Given the description of an element on the screen output the (x, y) to click on. 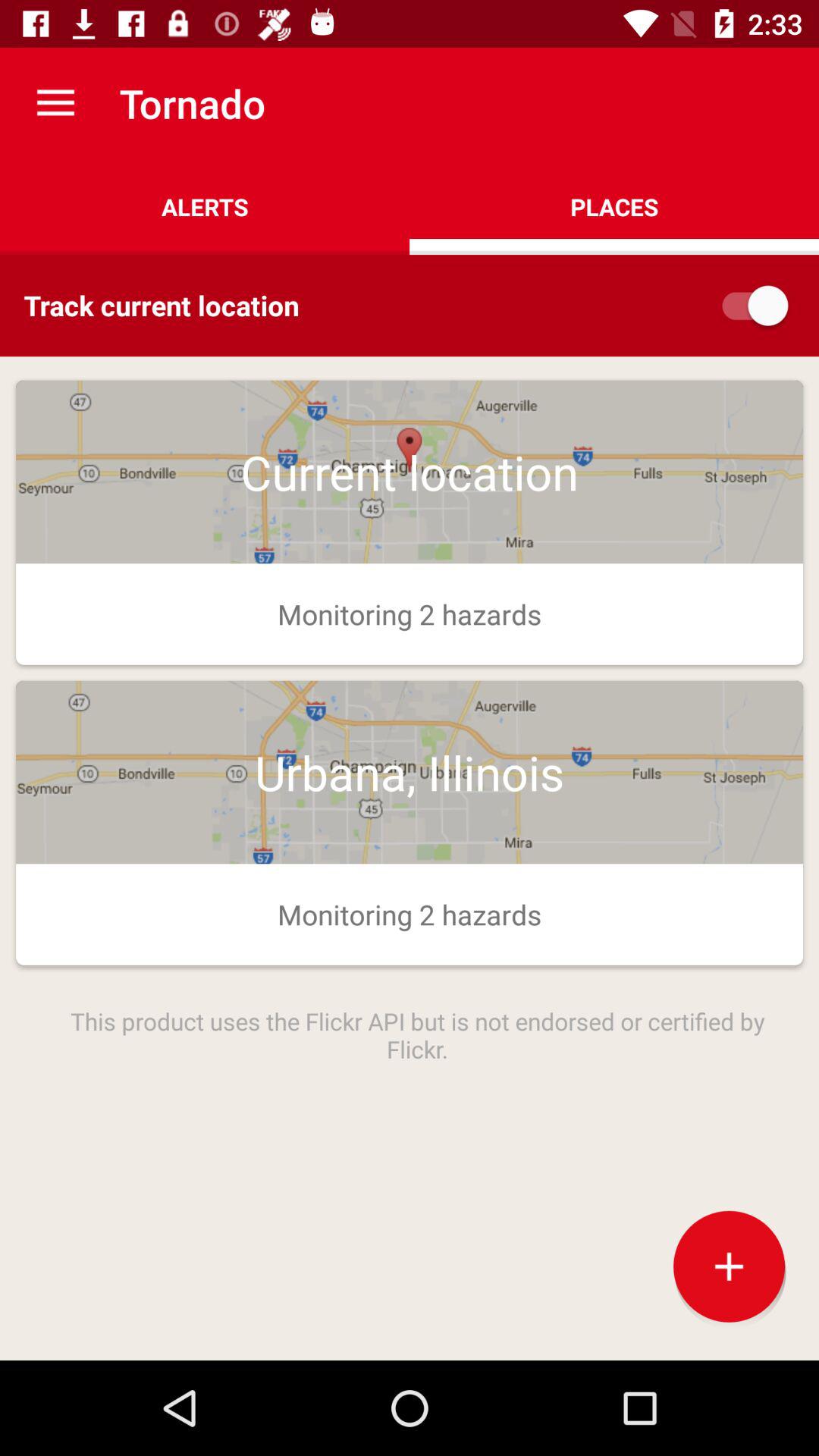
open the item next to the alerts app (614, 206)
